Given the description of an element on the screen output the (x, y) to click on. 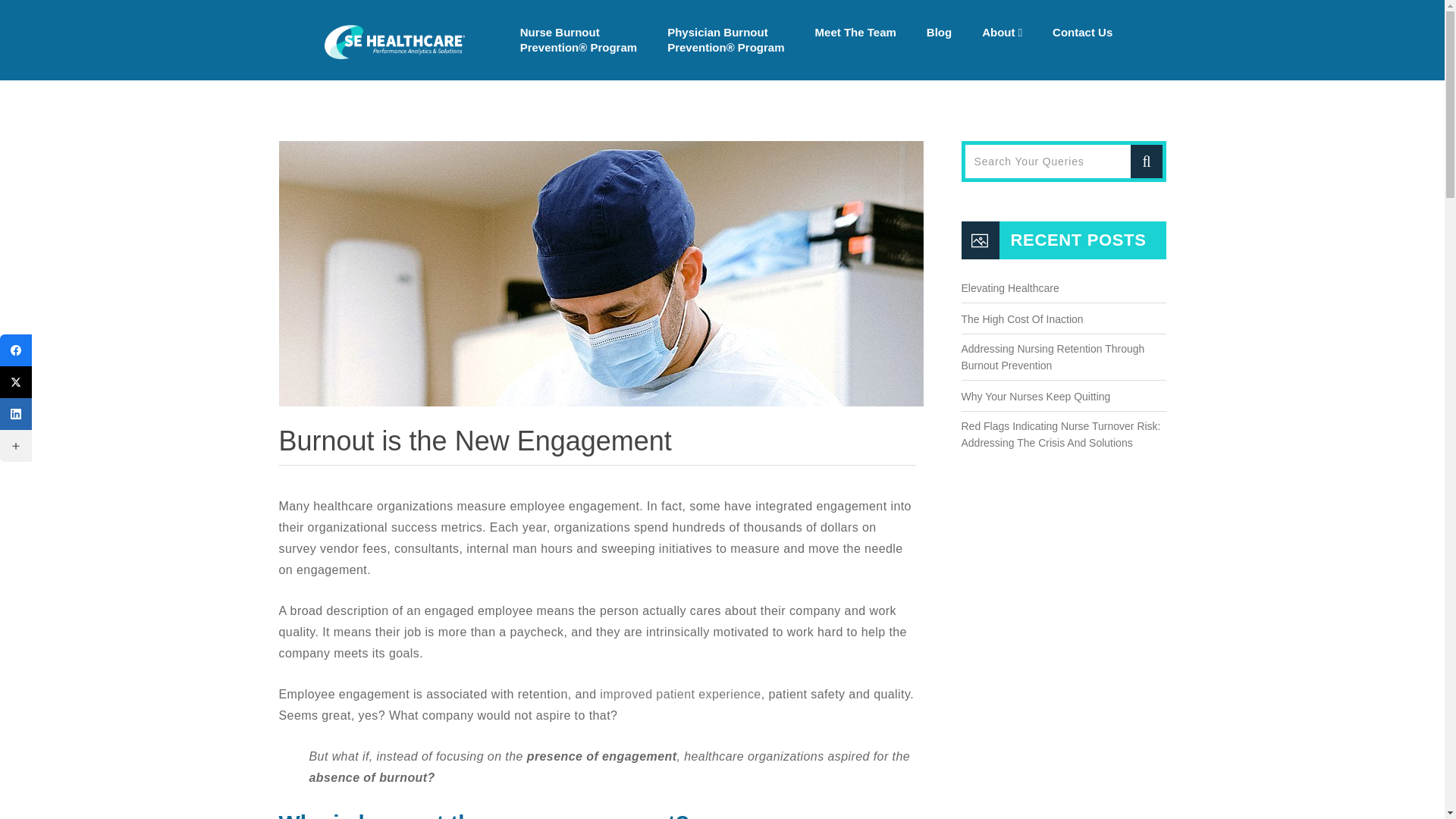
Meet The Team (856, 31)
About (1001, 31)
improved patient experience (679, 694)
Contact Us (1082, 31)
Contact Us (1082, 31)
Blog (938, 31)
Blog (938, 31)
About (1001, 31)
Meet The Team (856, 31)
